Given the description of an element on the screen output the (x, y) to click on. 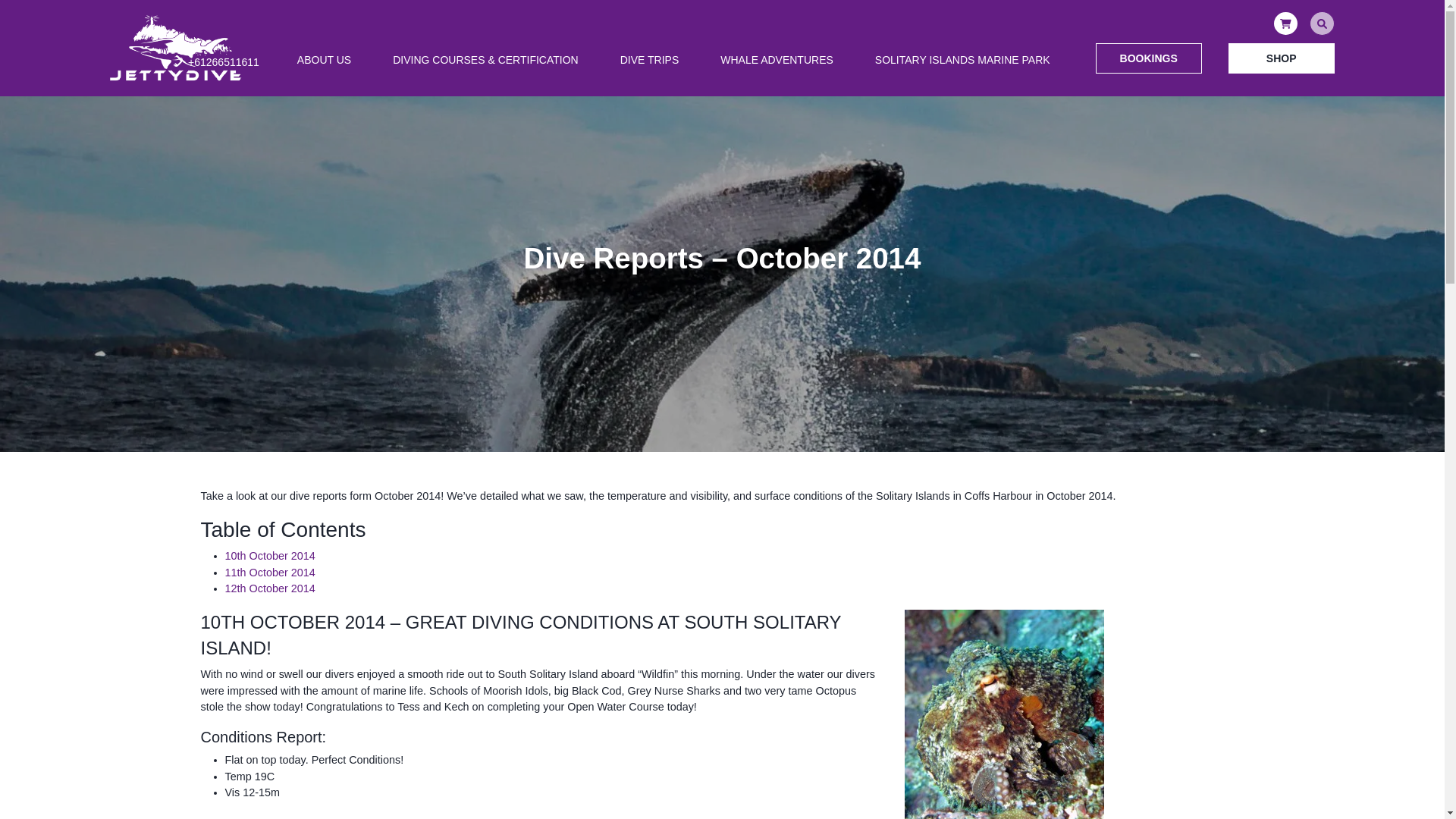
ABOUT US (323, 58)
My Basket (1285, 23)
